Given the description of an element on the screen output the (x, y) to click on. 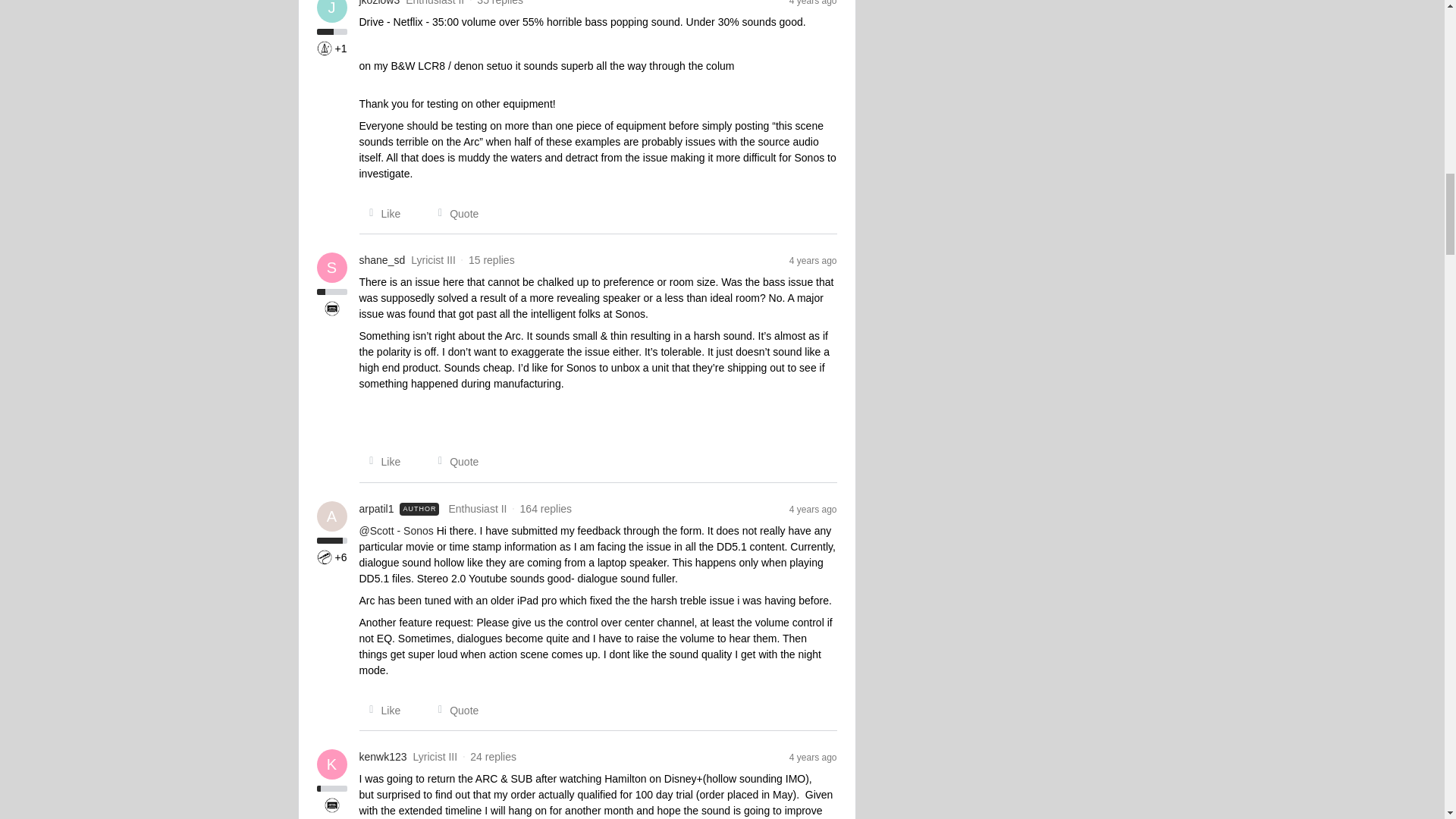
Amping it up I (324, 557)
Almost Famous (331, 308)
kenwk123 (383, 756)
jkozlow3 (379, 4)
arpatil1 (376, 508)
On Tempo I (324, 48)
Almost Famous (331, 805)
